Given the description of an element on the screen output the (x, y) to click on. 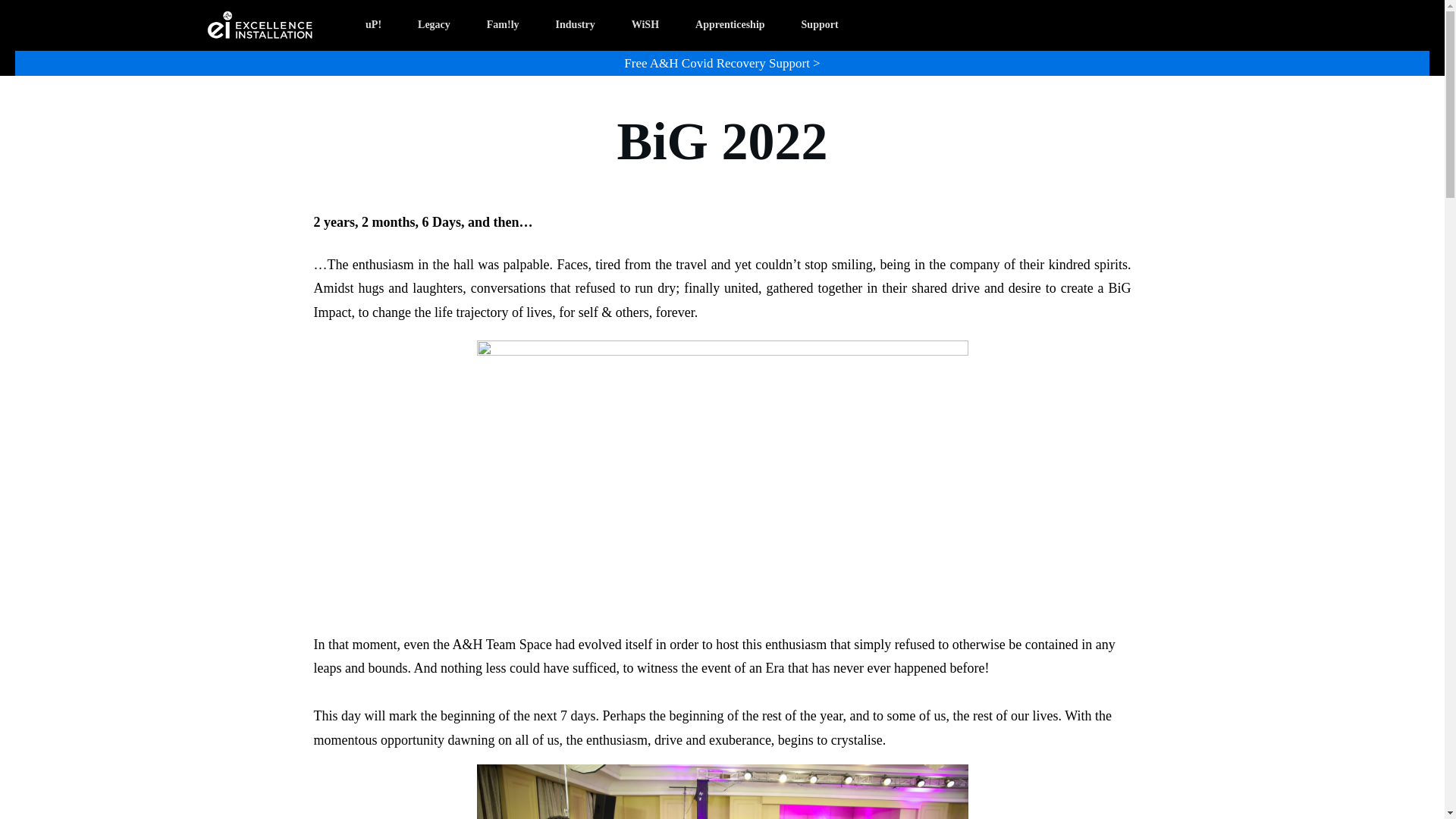
Industry (575, 25)
Apprenticeship (730, 25)
WiSH (645, 25)
Support (820, 25)
Fam!ly (502, 25)
Legacy (433, 25)
